Given the description of an element on the screen output the (x, y) to click on. 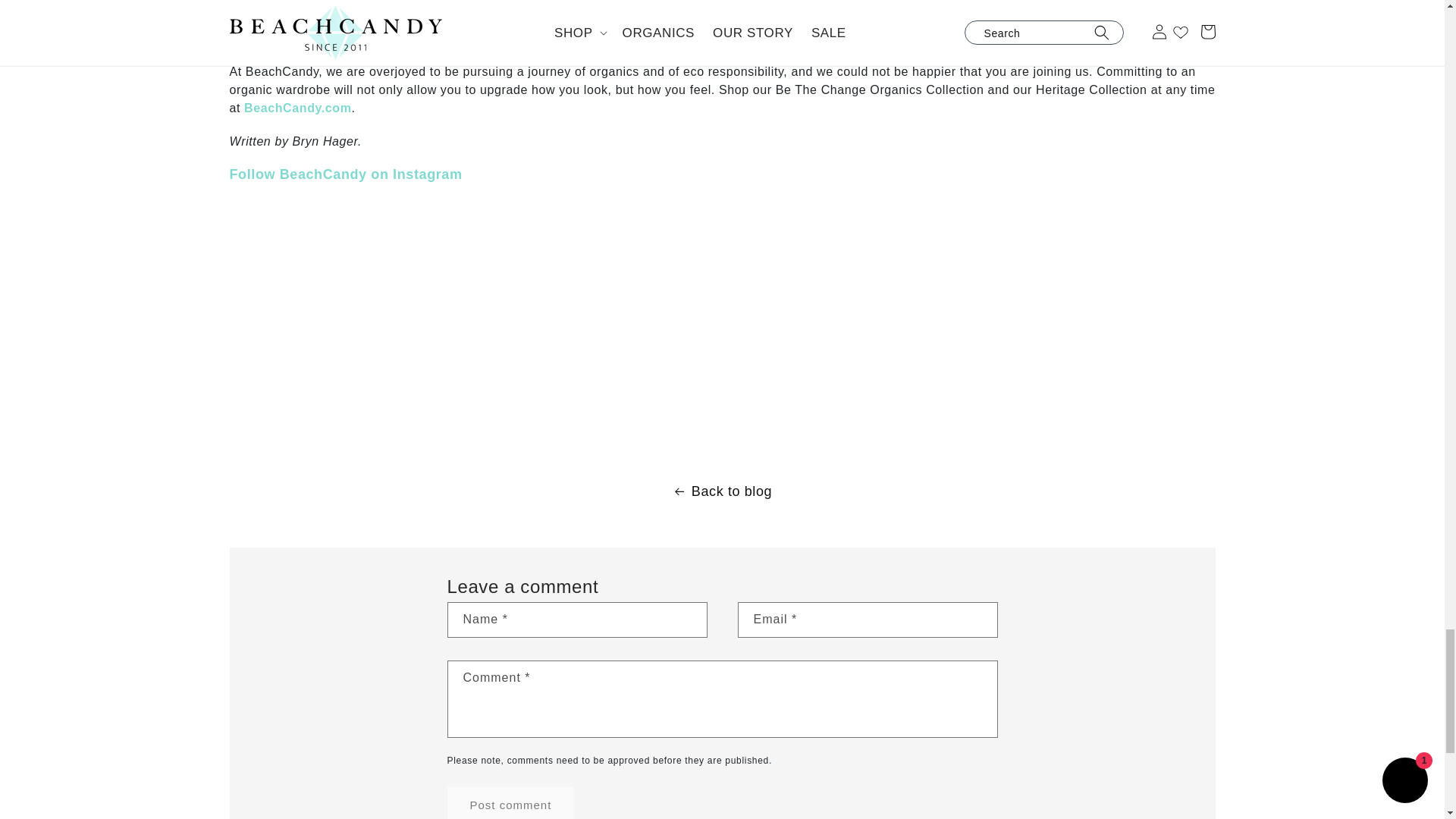
Ethical Swimwear, Clothing, and Accessories for Women (297, 107)
Post comment (510, 803)
YouTube video player (440, 318)
